Given the description of an element on the screen output the (x, y) to click on. 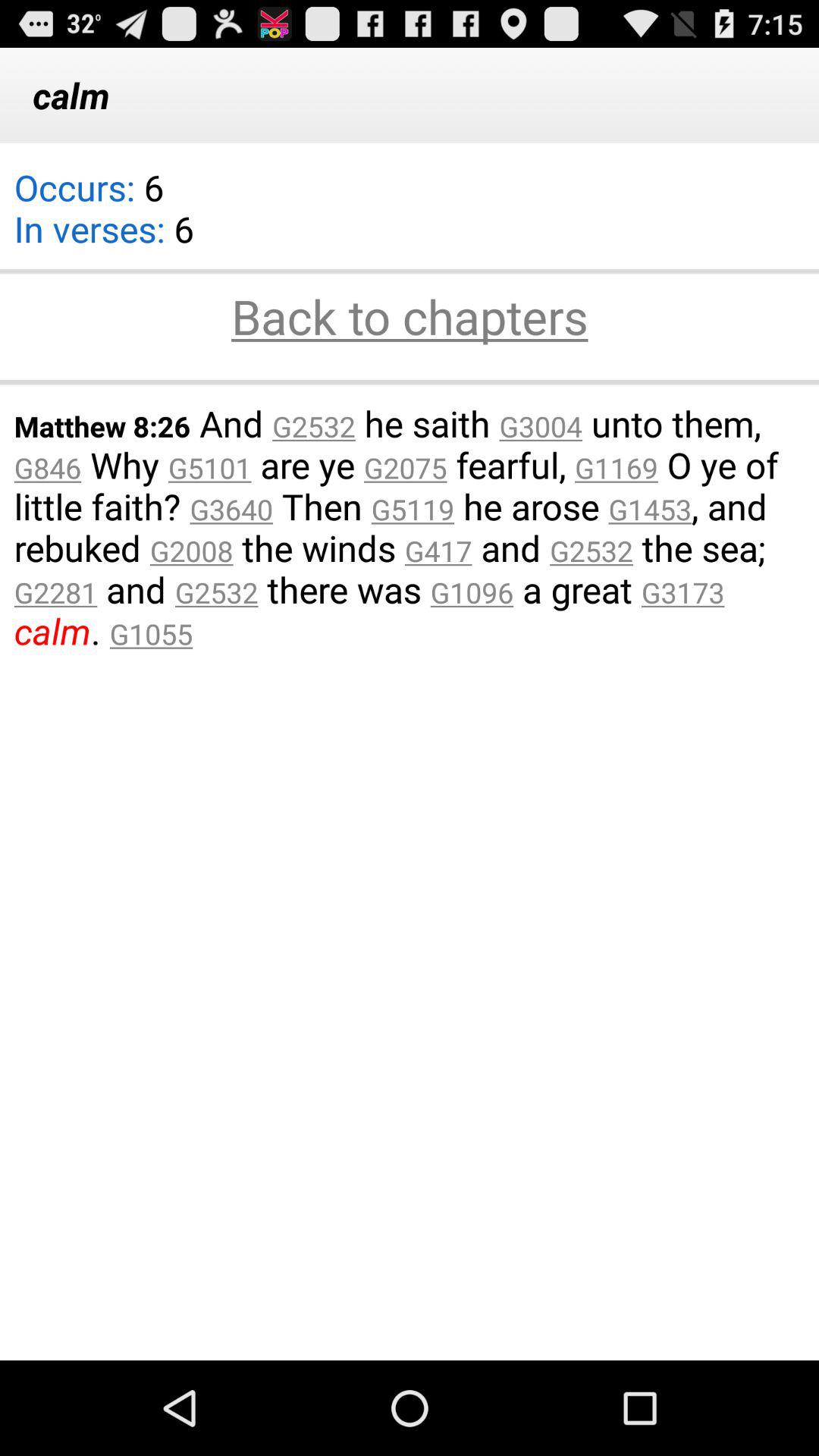
turn on app below occurs 6 in item (409, 319)
